Given the description of an element on the screen output the (x, y) to click on. 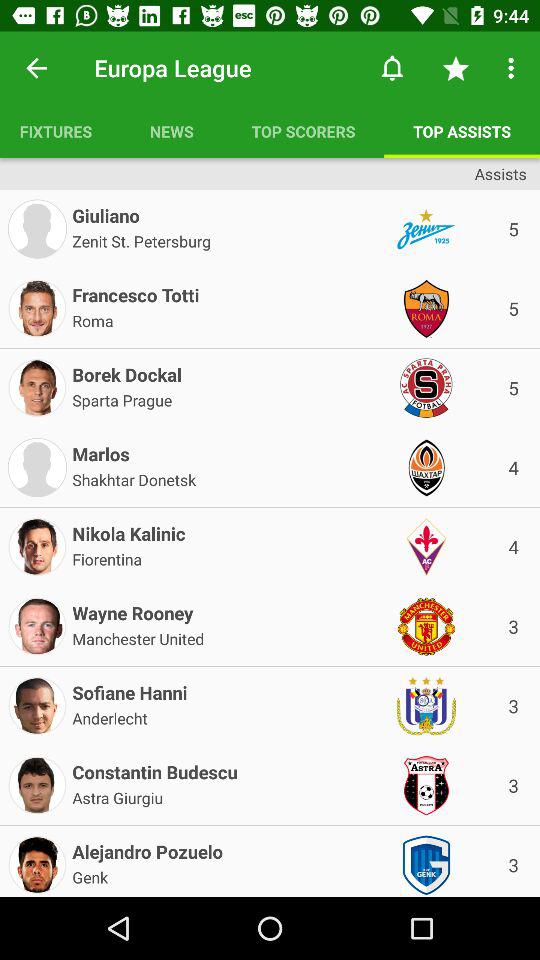
flip until the top scorers (303, 131)
